Given the description of an element on the screen output the (x, y) to click on. 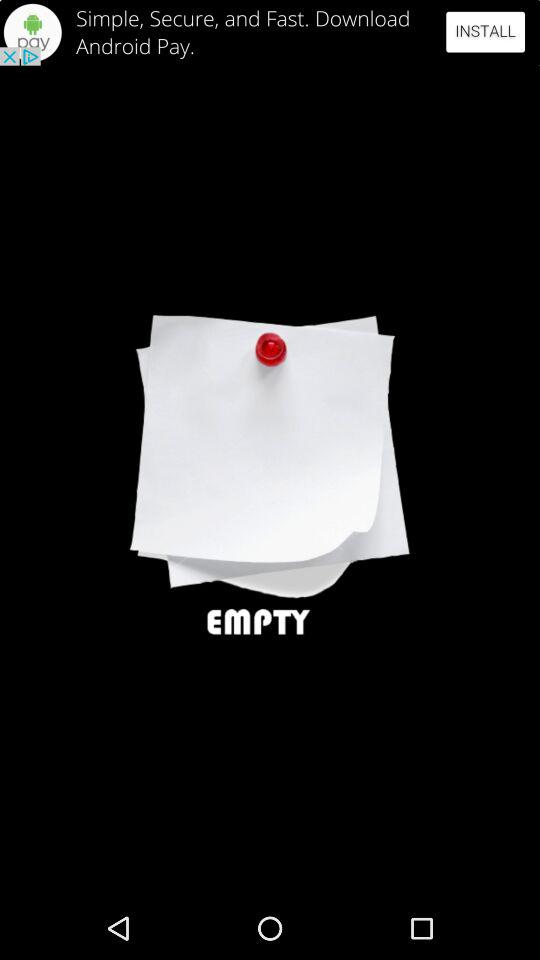
open advertisement (270, 32)
